Given the description of an element on the screen output the (x, y) to click on. 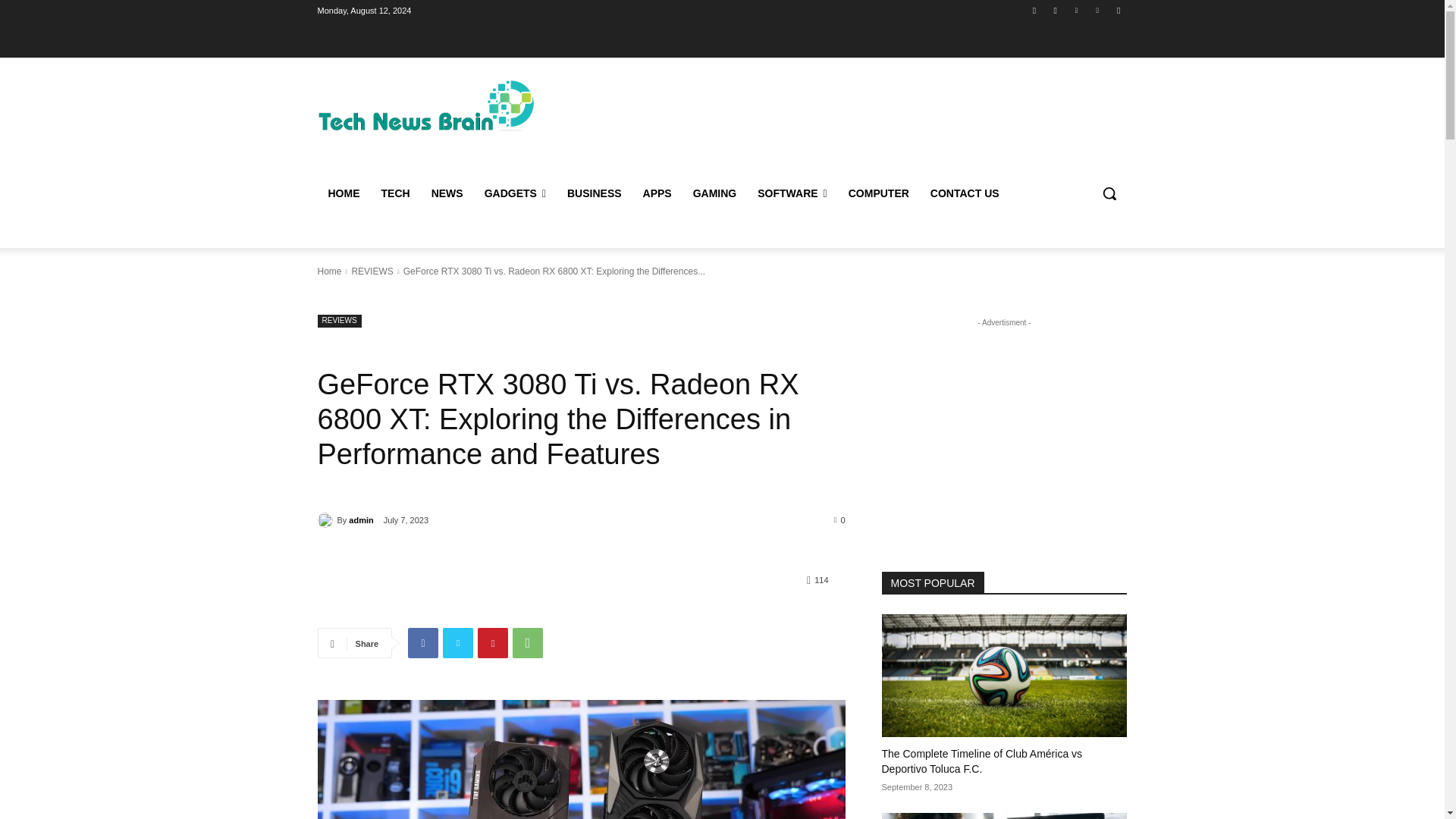
Vimeo (1097, 9)
Pinterest (492, 643)
View all posts in REVIEWS (371, 271)
Twitter (457, 643)
Facebook (422, 643)
NEWS (447, 193)
HOME (343, 193)
GADGETS (515, 193)
Youtube (1117, 9)
Twitter (1075, 9)
